Given the description of an element on the screen output the (x, y) to click on. 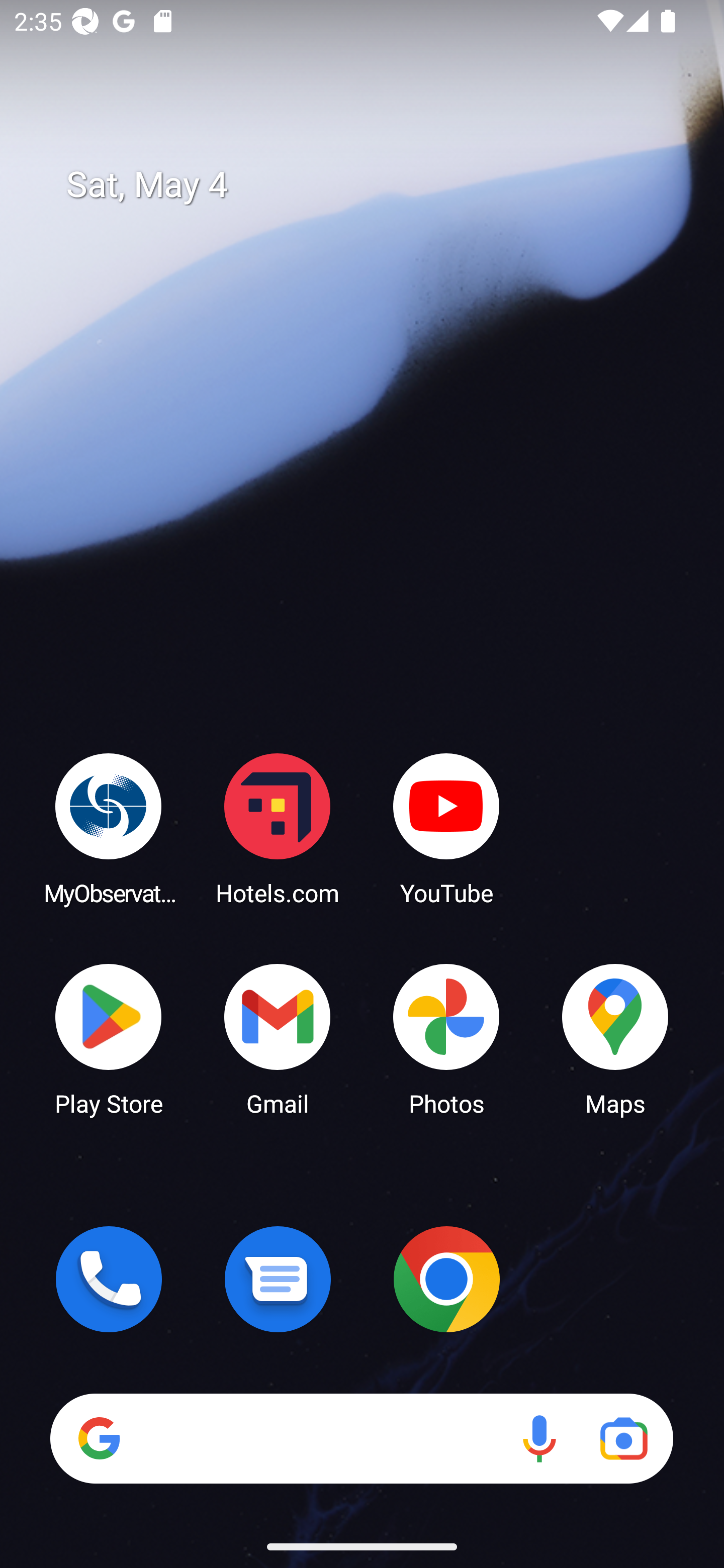
Sat, May 4 (375, 184)
MyObservatory (108, 828)
Hotels.com (277, 828)
YouTube (445, 828)
Play Store (108, 1038)
Gmail (277, 1038)
Photos (445, 1038)
Maps (615, 1038)
Phone (108, 1279)
Messages (277, 1279)
Chrome (446, 1279)
Search Voice search Google Lens (361, 1438)
Voice search (539, 1438)
Google Lens (623, 1438)
